Given the description of an element on the screen output the (x, y) to click on. 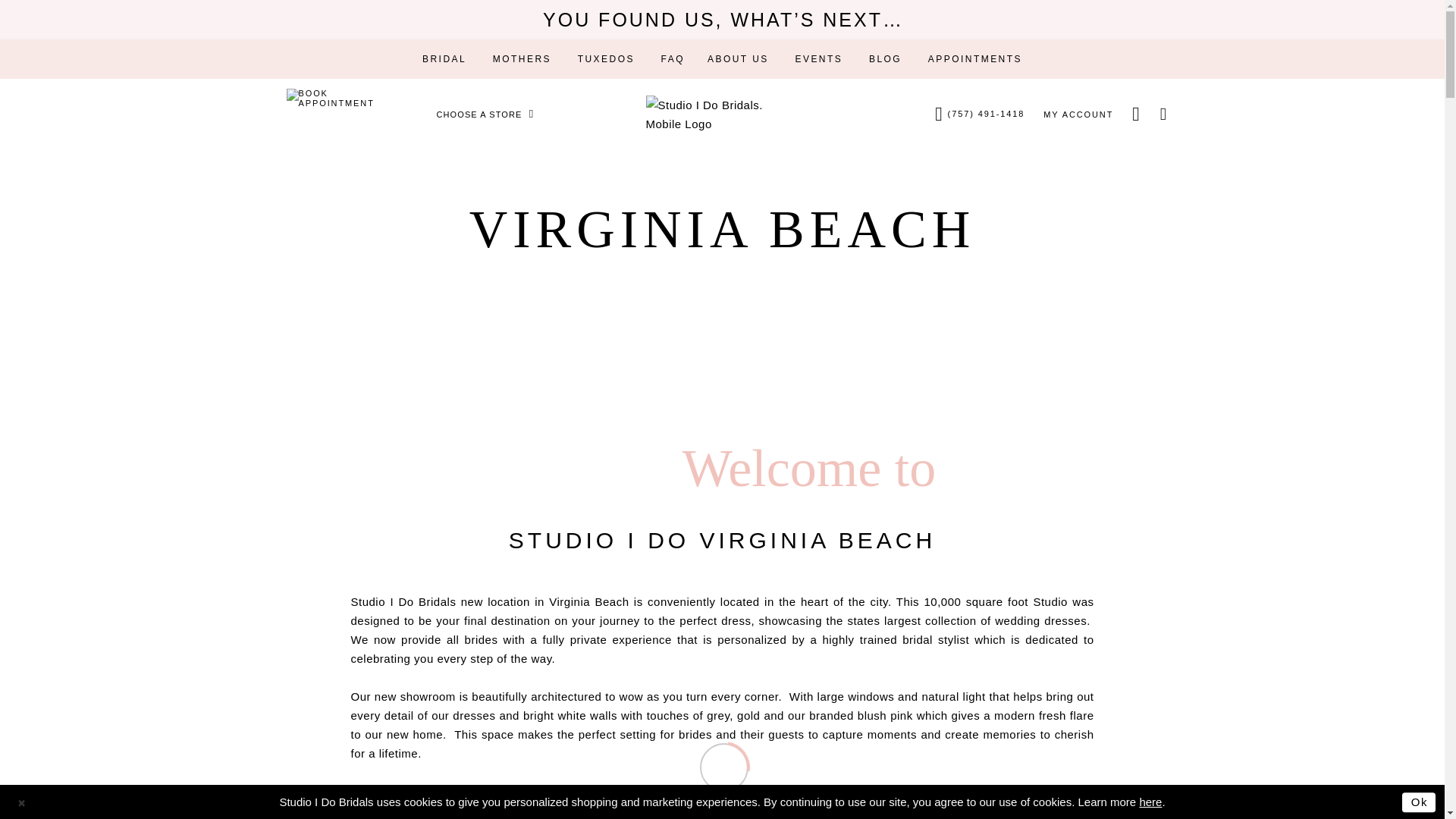
BRIDAL (443, 58)
EVENTS (818, 58)
MOTHERS (521, 58)
FAQ (672, 58)
TUXEDOS (606, 58)
BLOG (884, 58)
ABOUT US (737, 58)
MY ACCOUNT (1077, 114)
APPOINTMENTS (975, 58)
